Given the description of an element on the screen output the (x, y) to click on. 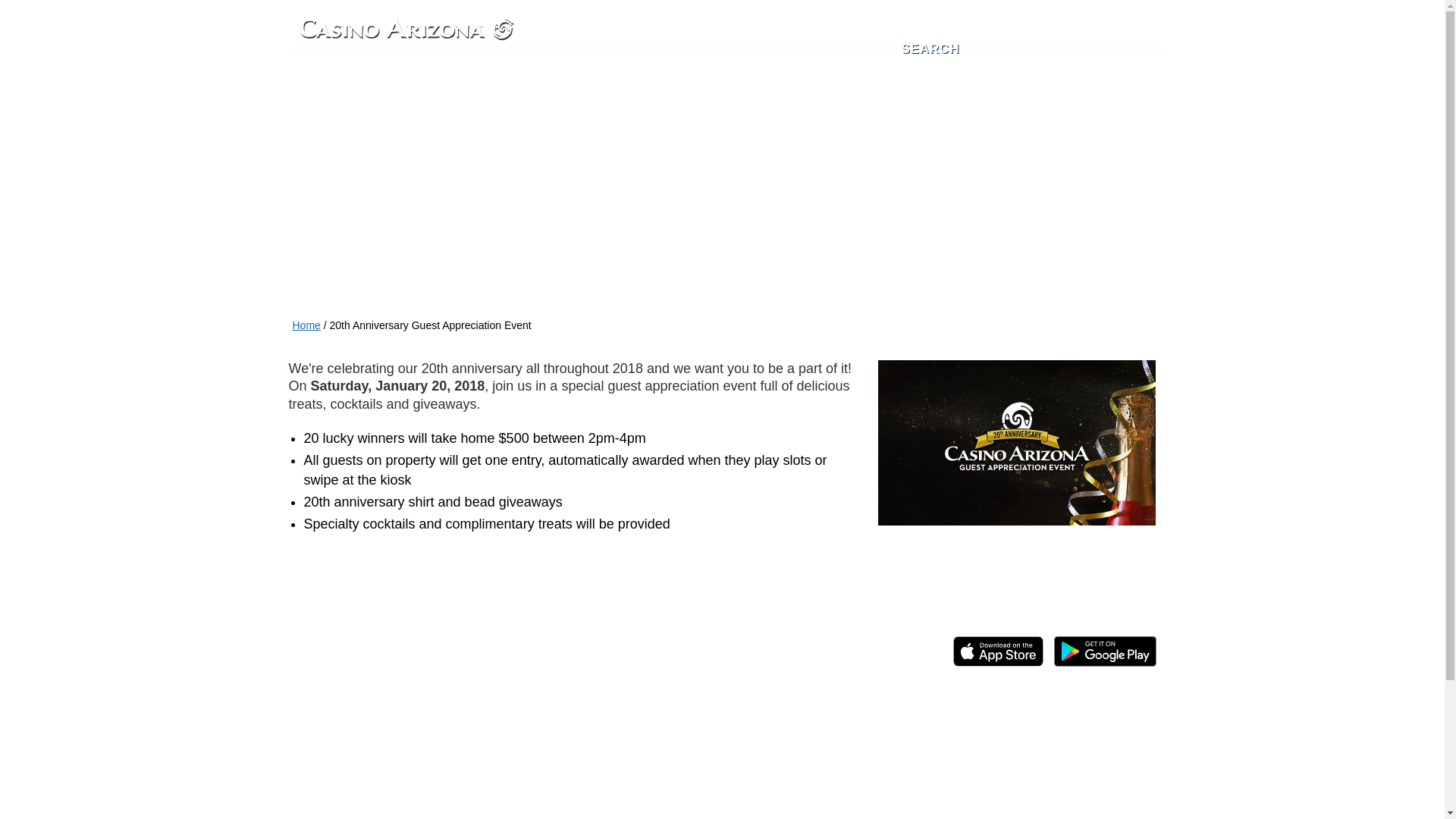
Careers (639, 726)
SEARCH (929, 48)
SALT RIVER REWARDS (931, 78)
ENTERTAINMENT (370, 78)
Home (306, 325)
Where to Stay (490, 726)
PLAN YOUR EVENT (378, 121)
DINING (660, 78)
Community (707, 726)
Gift Cards (572, 726)
